Given the description of an element on the screen output the (x, y) to click on. 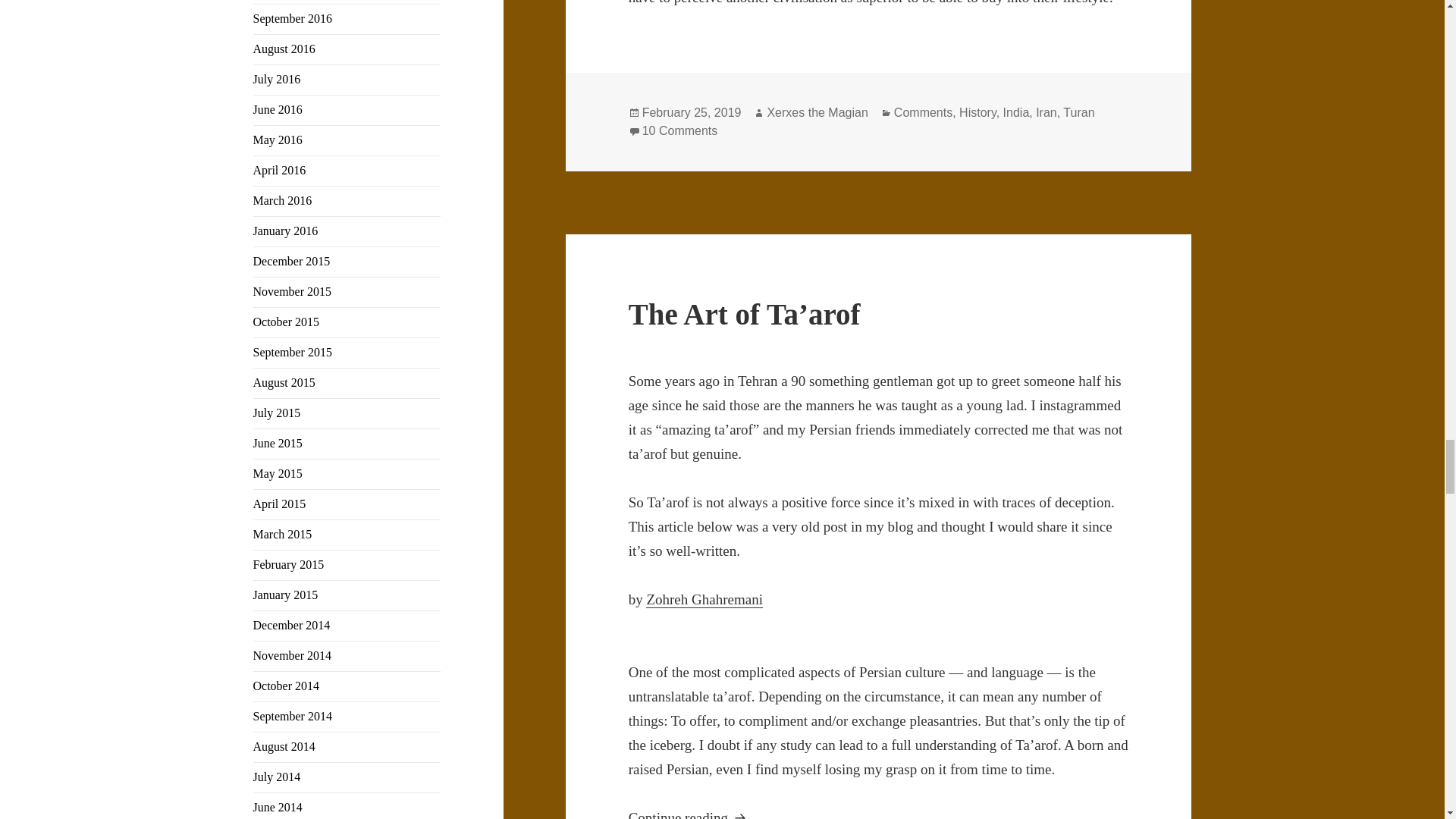
Posts by Zohreh Ghahremani (704, 599)
